Given the description of an element on the screen output the (x, y) to click on. 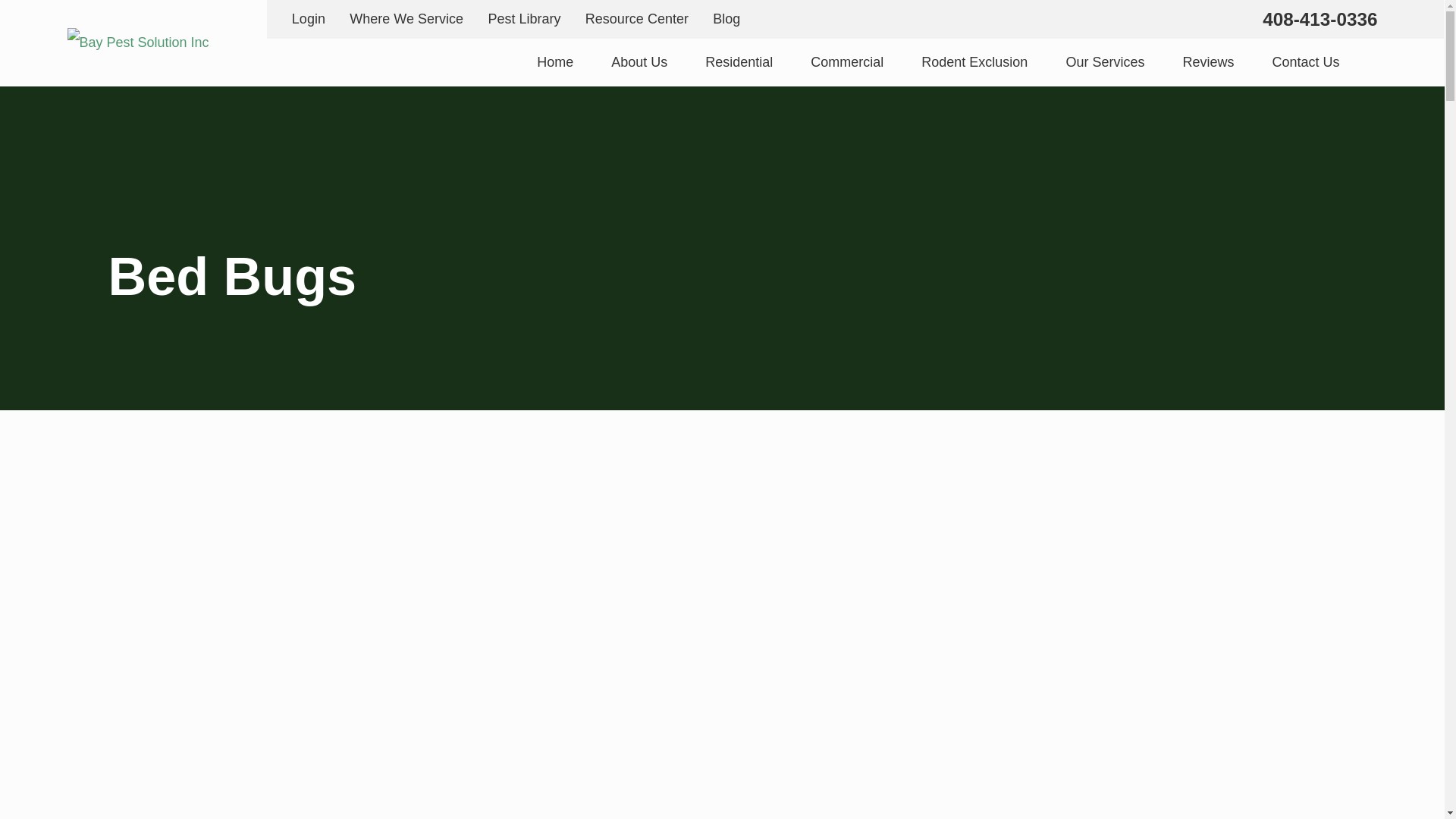
Our Services (1104, 62)
Reviews (1207, 62)
Commercial (846, 62)
Resource Center (636, 18)
About Us (638, 62)
Rodent Exclusion (974, 62)
Pest Library (523, 18)
Login (308, 18)
Where We Service (406, 18)
408-413-0336 (1319, 19)
Residential (738, 62)
Contact Us (1305, 62)
Home (555, 62)
Home (137, 42)
Blog (726, 18)
